Given the description of an element on the screen output the (x, y) to click on. 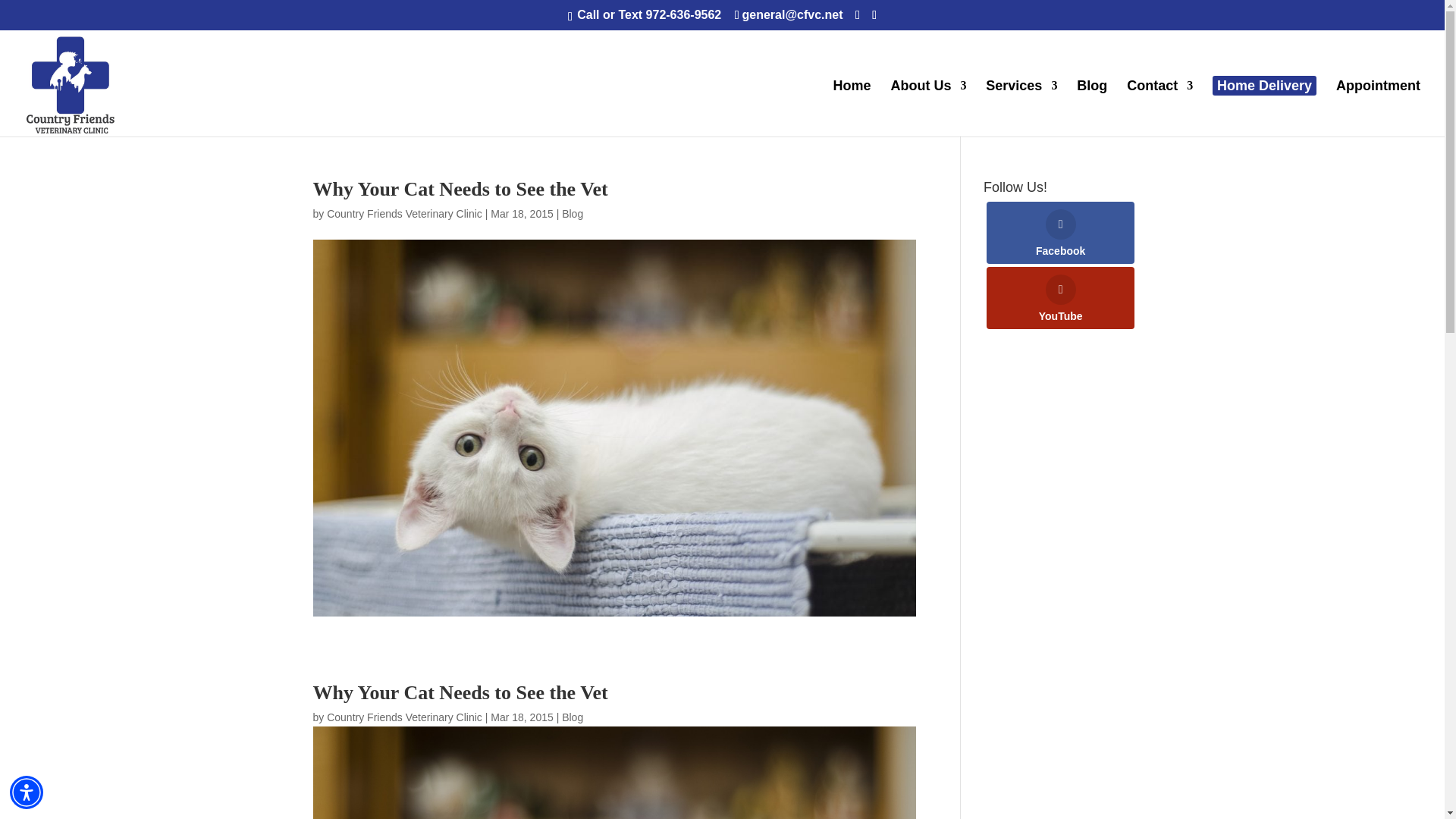
Accessibility Menu (26, 792)
Posts by Country Friends Veterinary Clinic (403, 214)
Appointment (1378, 108)
About Us (927, 108)
Services (1021, 108)
Posts by Country Friends Veterinary Clinic (403, 717)
Call or Text 972-636-9562 (649, 14)
Contact (1159, 108)
Home Delivery (1264, 85)
